Given the description of an element on the screen output the (x, y) to click on. 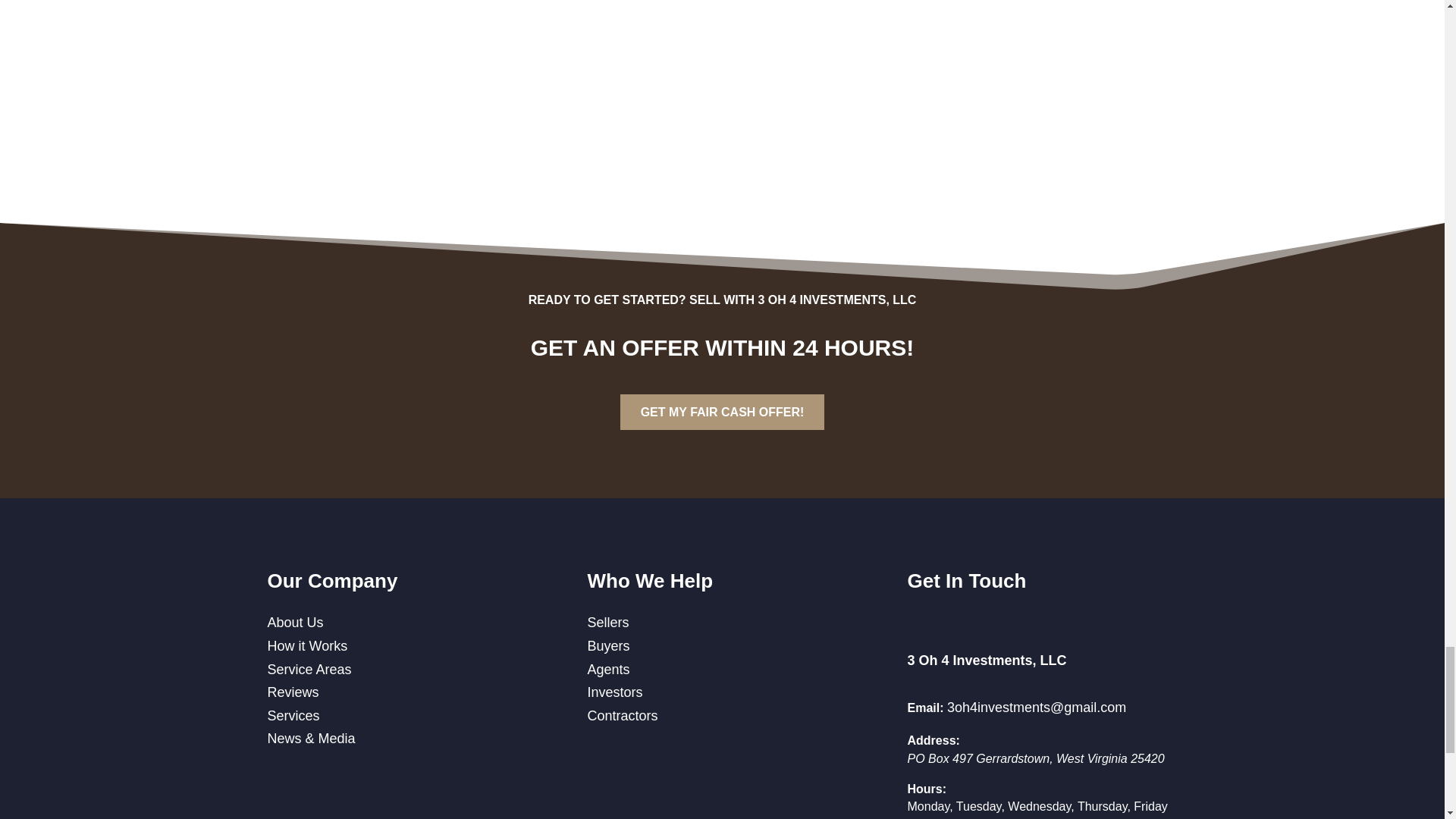
Sellers (607, 622)
GET MY FAIR CASH OFFER! (722, 411)
Reviews (292, 692)
How it Works (306, 645)
About Us (294, 622)
Services (292, 715)
Service Areas (308, 669)
